Given the description of an element on the screen output the (x, y) to click on. 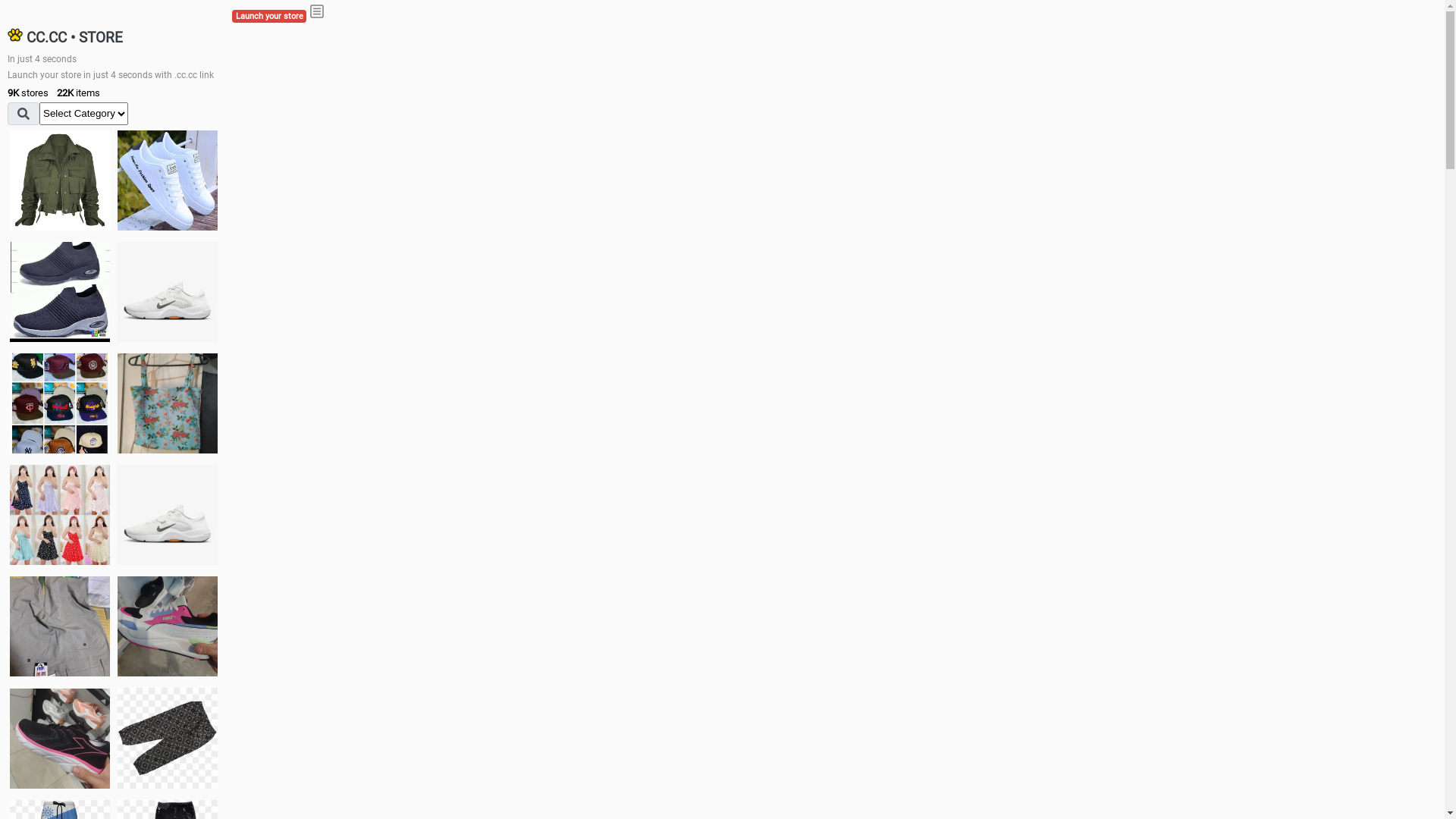
Shoes for boys Element type: hover (167, 291)
Dress/square nect top Element type: hover (59, 514)
jacket Element type: hover (59, 180)
Zapatillas pumas Element type: hover (167, 626)
Shoes Element type: hover (167, 514)
shoes for boys Element type: hover (59, 291)
Things we need Element type: hover (59, 403)
Launch your store Element type: text (269, 15)
white shoes Element type: hover (167, 180)
Short pant Element type: hover (167, 737)
Zapatillas Element type: hover (59, 738)
Ukay cloth Element type: hover (167, 403)
